Given the description of an element on the screen output the (x, y) to click on. 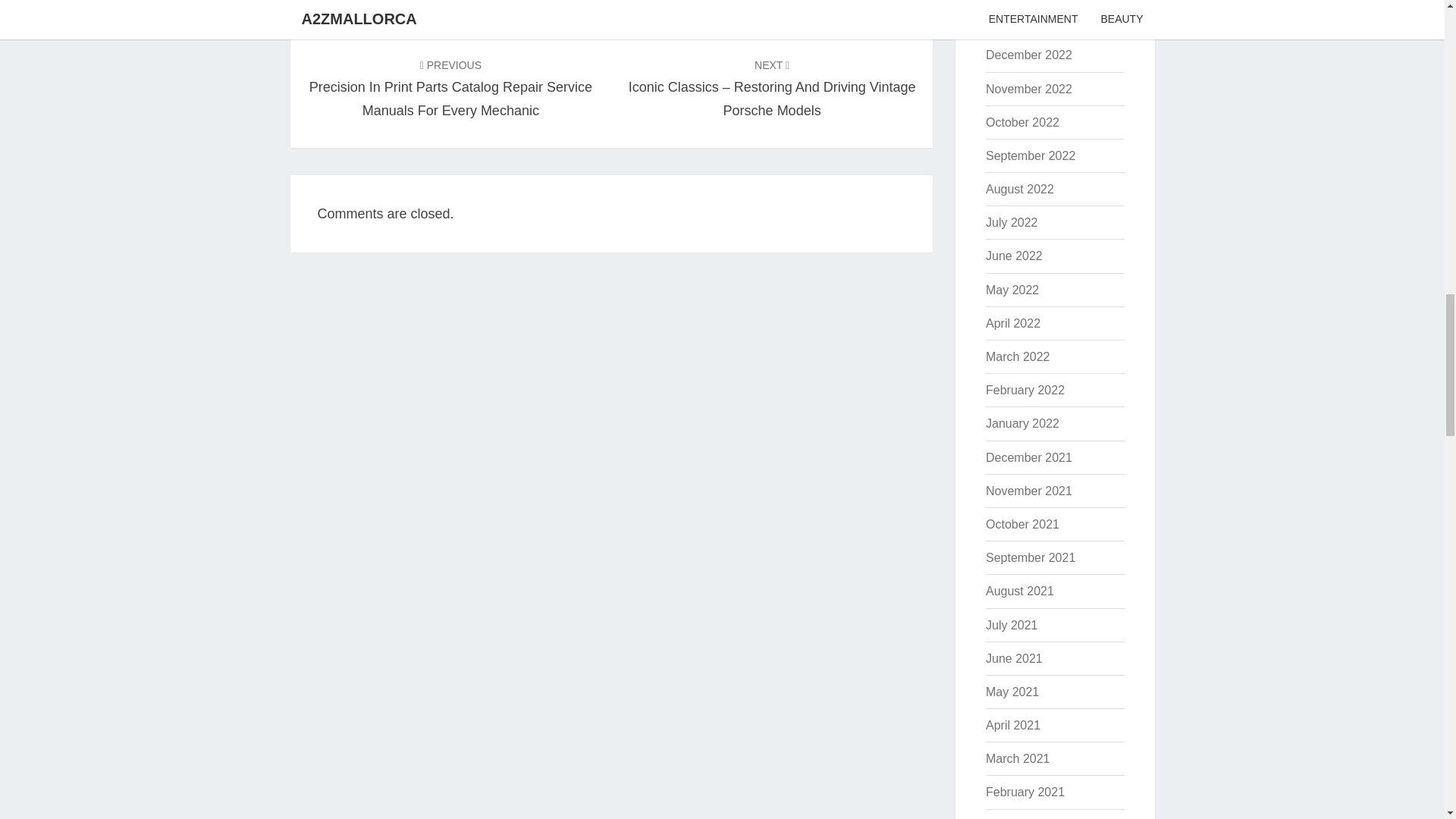
November 2022 (1028, 88)
July 2022 (1011, 222)
May 2022 (1012, 289)
December 2022 (1028, 54)
September 2022 (1030, 155)
June 2022 (1013, 255)
January 2023 (1022, 21)
October 2022 (1022, 122)
August 2022 (1019, 188)
